Given the description of an element on the screen output the (x, y) to click on. 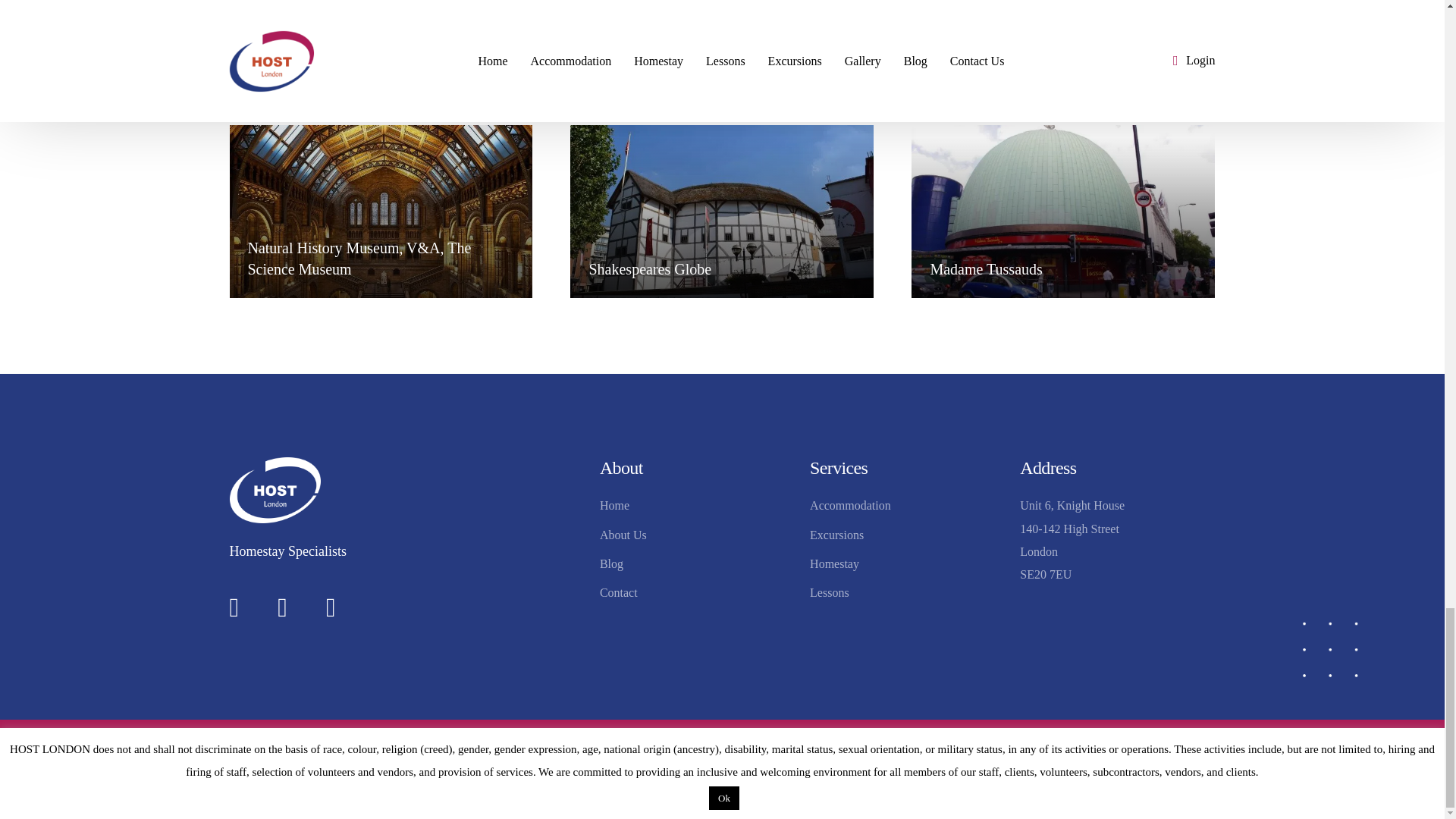
 View Post: Madame Tussauds (1062, 211)
Blog (696, 563)
The British Museum (978, 30)
Excursions (906, 535)
Homestay (906, 563)
Madame Tussauds (1063, 269)
Lessons (906, 592)
About Us (696, 535)
 View Post: Shakespeares Globe (721, 211)
